Given the description of an element on the screen output the (x, y) to click on. 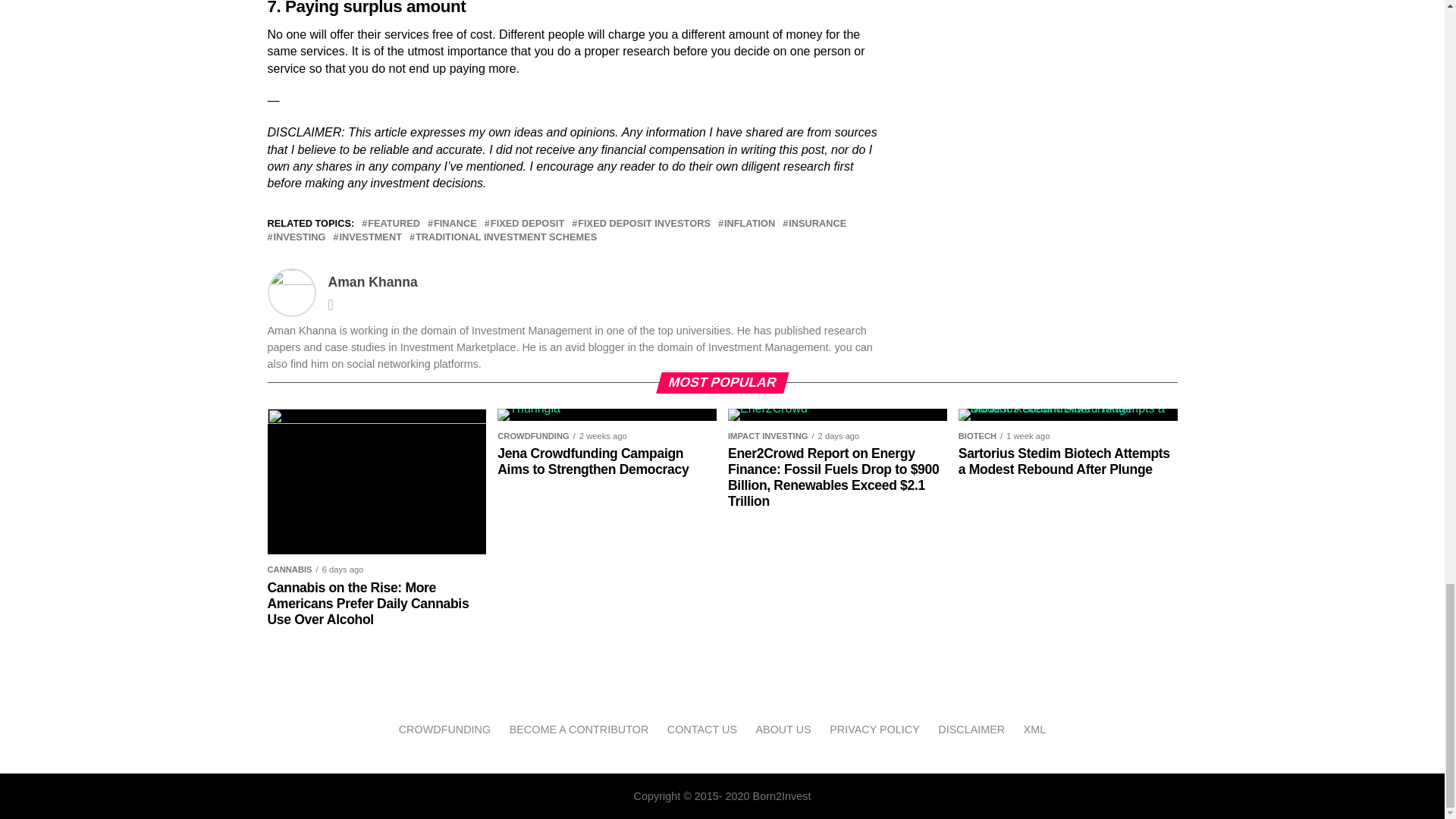
FINANCE (455, 224)
Posts by Aman Khanna (371, 281)
FIXED DEPOSIT (527, 224)
FEATURED (394, 224)
INFLATION (748, 224)
FIXED DEPOSIT INVESTORS (644, 224)
